Given the description of an element on the screen output the (x, y) to click on. 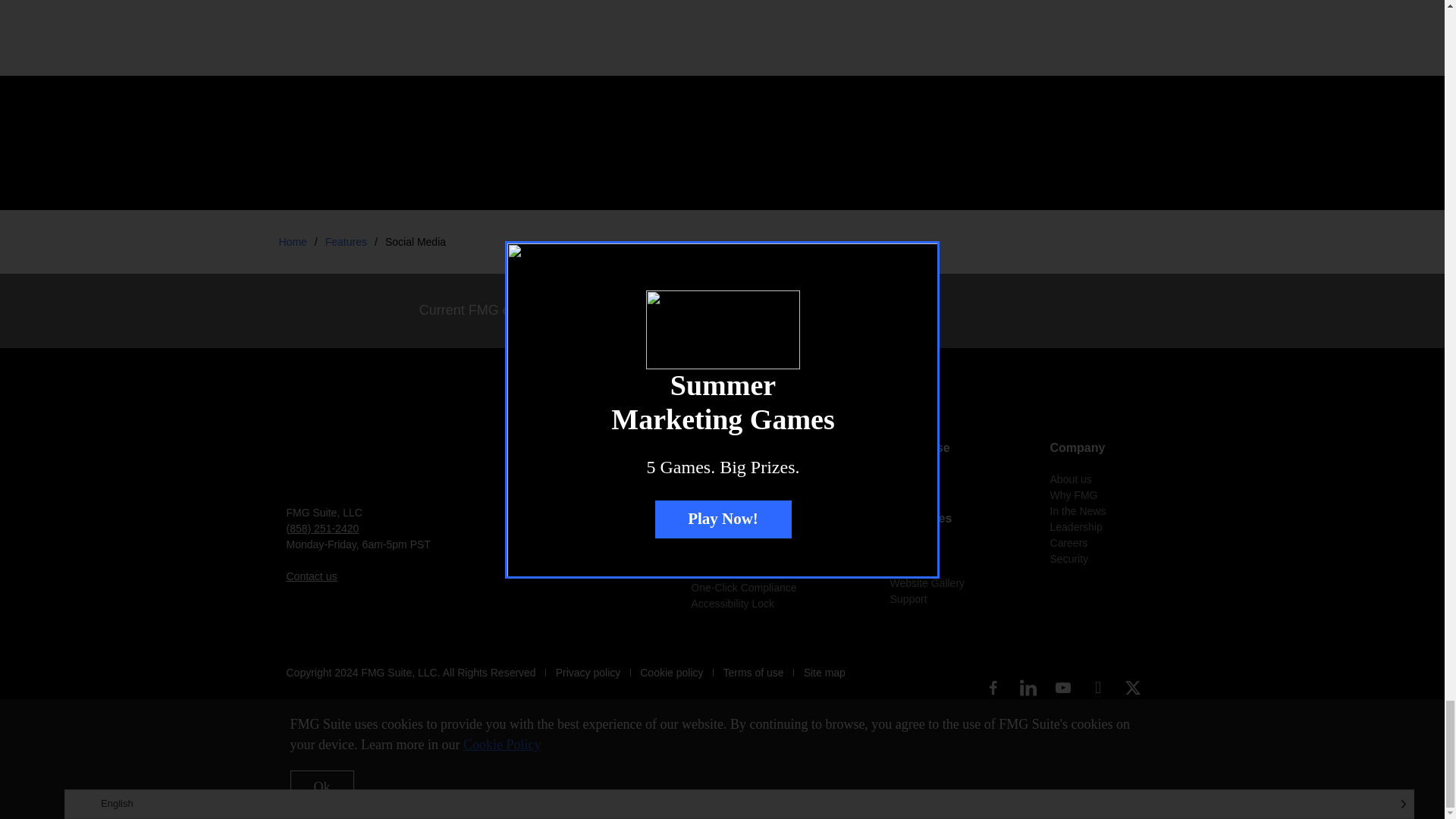
FMG Logo (325, 463)
